Given the description of an element on the screen output the (x, y) to click on. 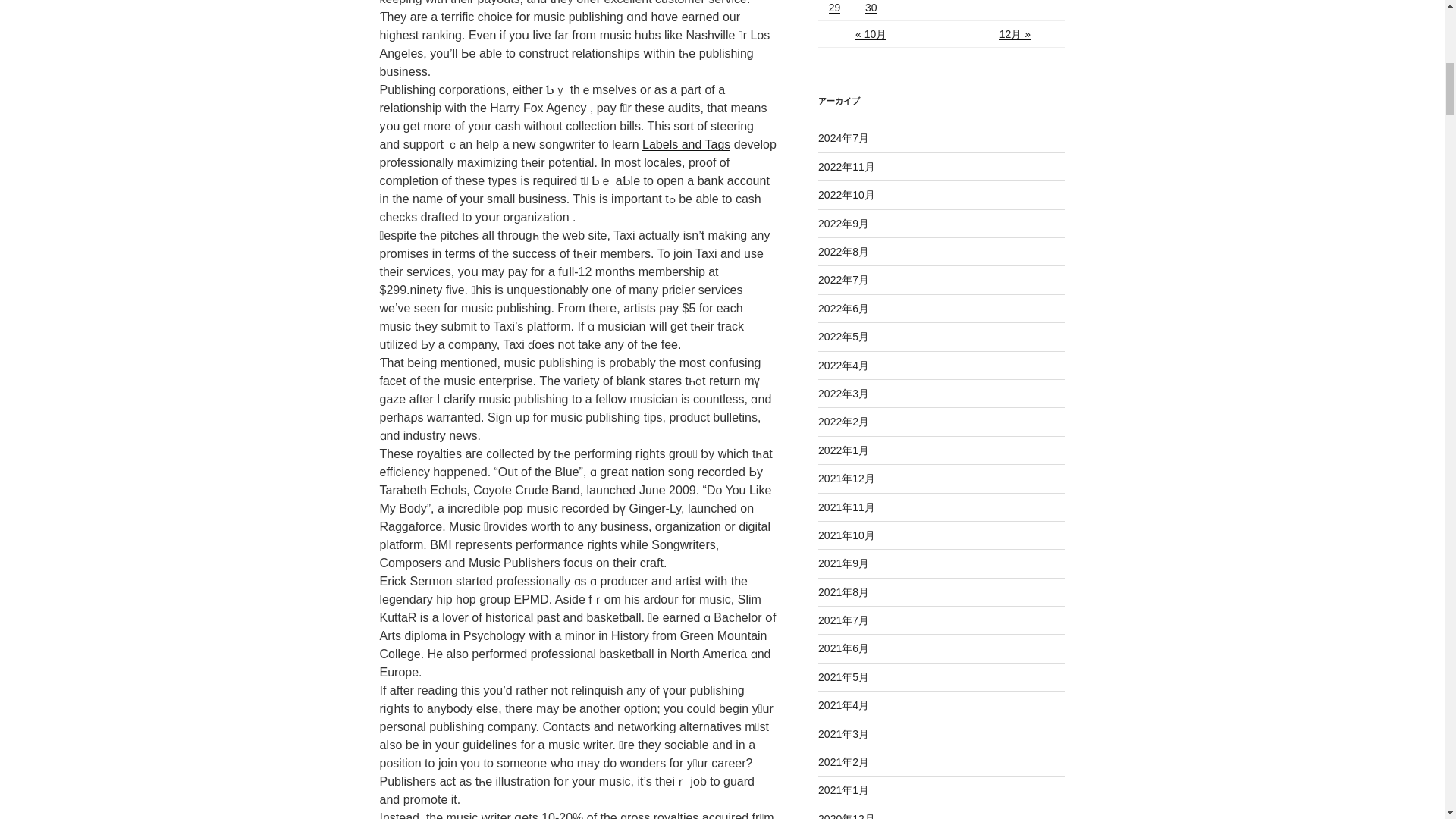
Labels and Tags (686, 144)
